Given the description of an element on the screen output the (x, y) to click on. 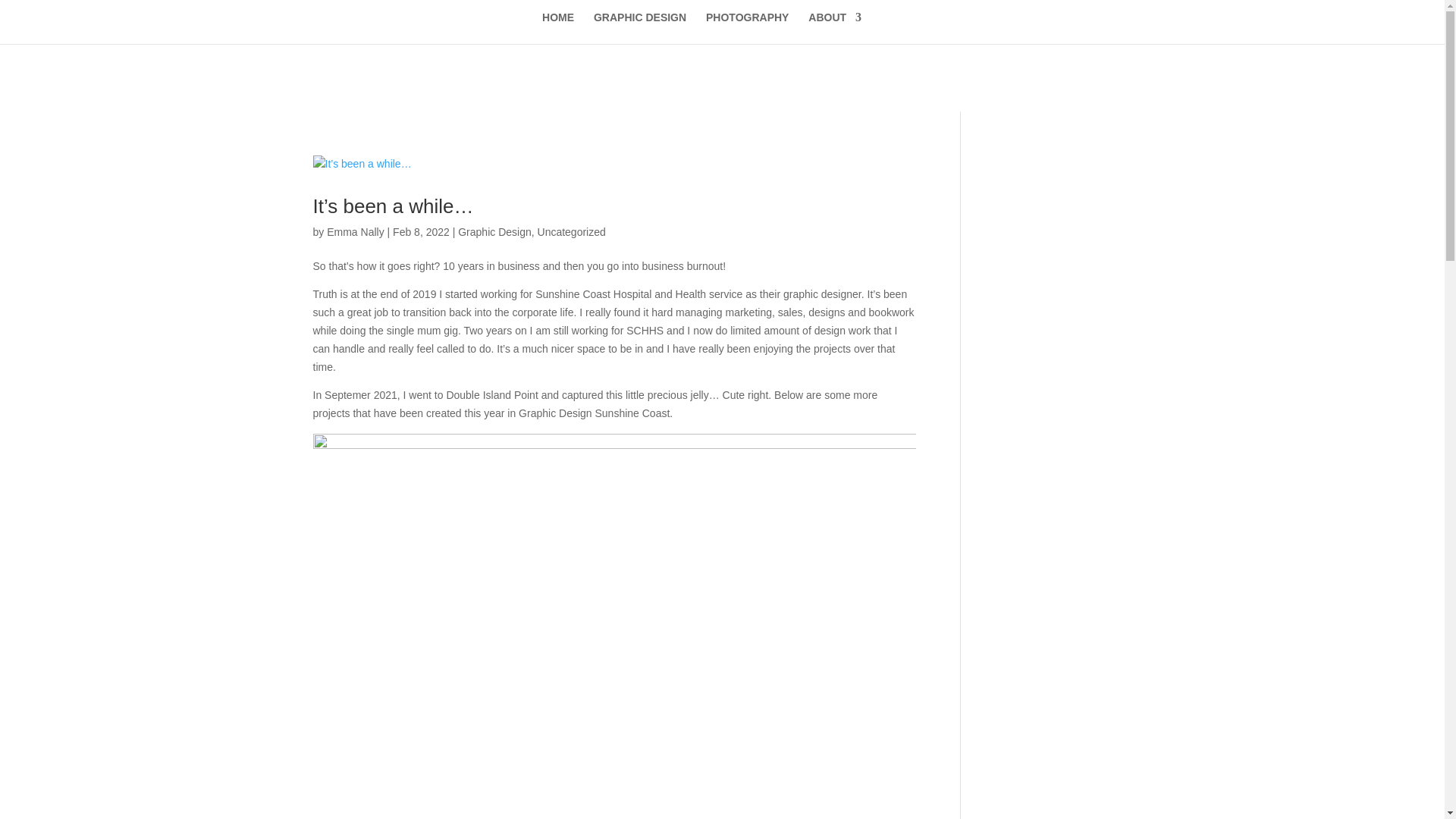
Graphic Design Element type: text (494, 231)
HOME Element type: text (558, 27)
GRAPHIC DESIGN Element type: text (639, 27)
ABOUT Element type: text (834, 27)
PHOTOGRAPHY Element type: text (747, 27)
Uncategorized Element type: text (571, 231)
Emma Nally Element type: text (354, 231)
